Given the description of an element on the screen output the (x, y) to click on. 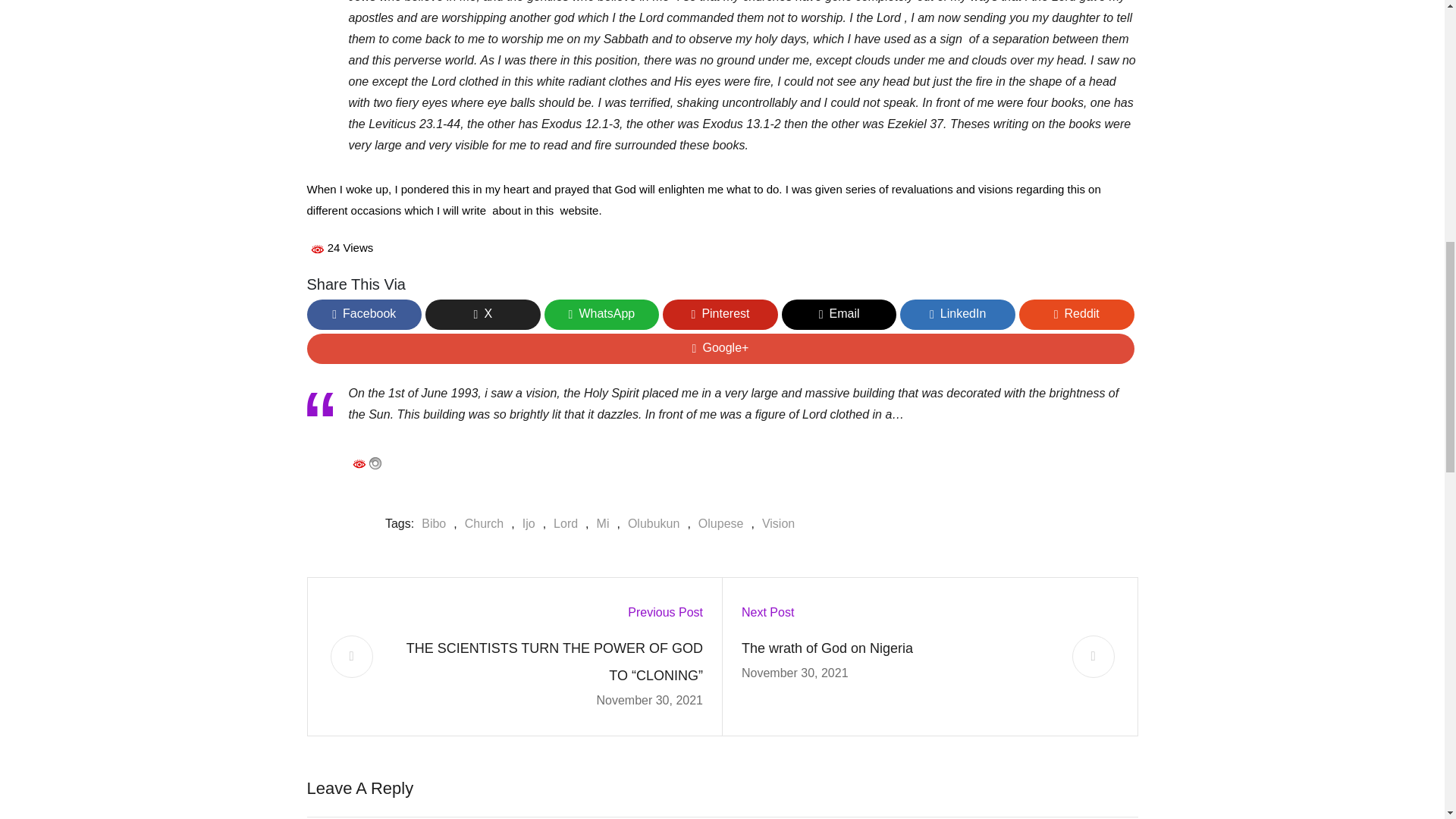
Olubukun (649, 523)
LinkedIn (956, 314)
Olupese (717, 523)
Vision (774, 523)
Pinterest (719, 314)
X (482, 314)
Reddit (1076, 314)
Mi (599, 523)
Church (480, 523)
Facebook (363, 314)
